Given the description of an element on the screen output the (x, y) to click on. 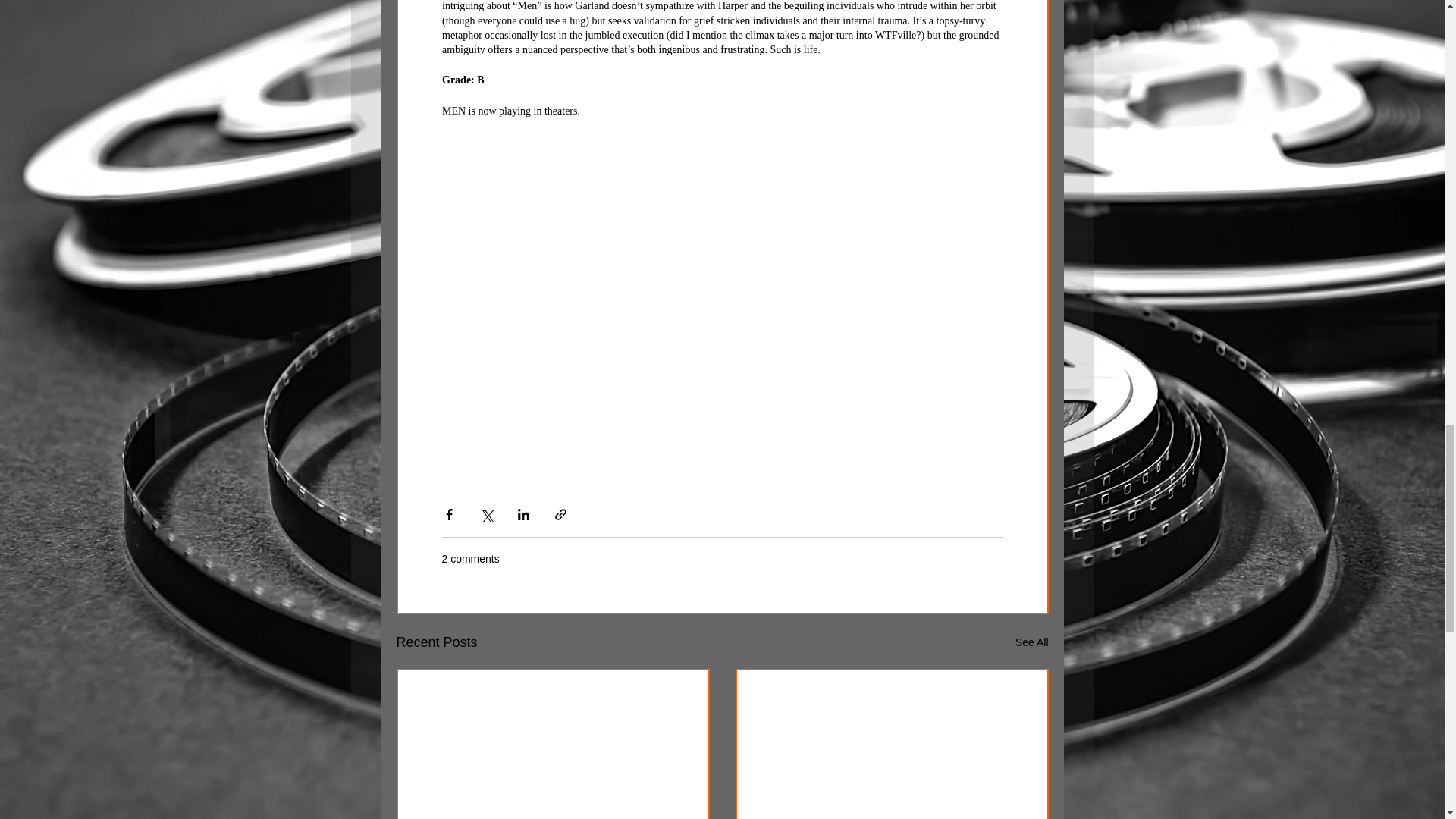
See All (1031, 642)
